Given the description of an element on the screen output the (x, y) to click on. 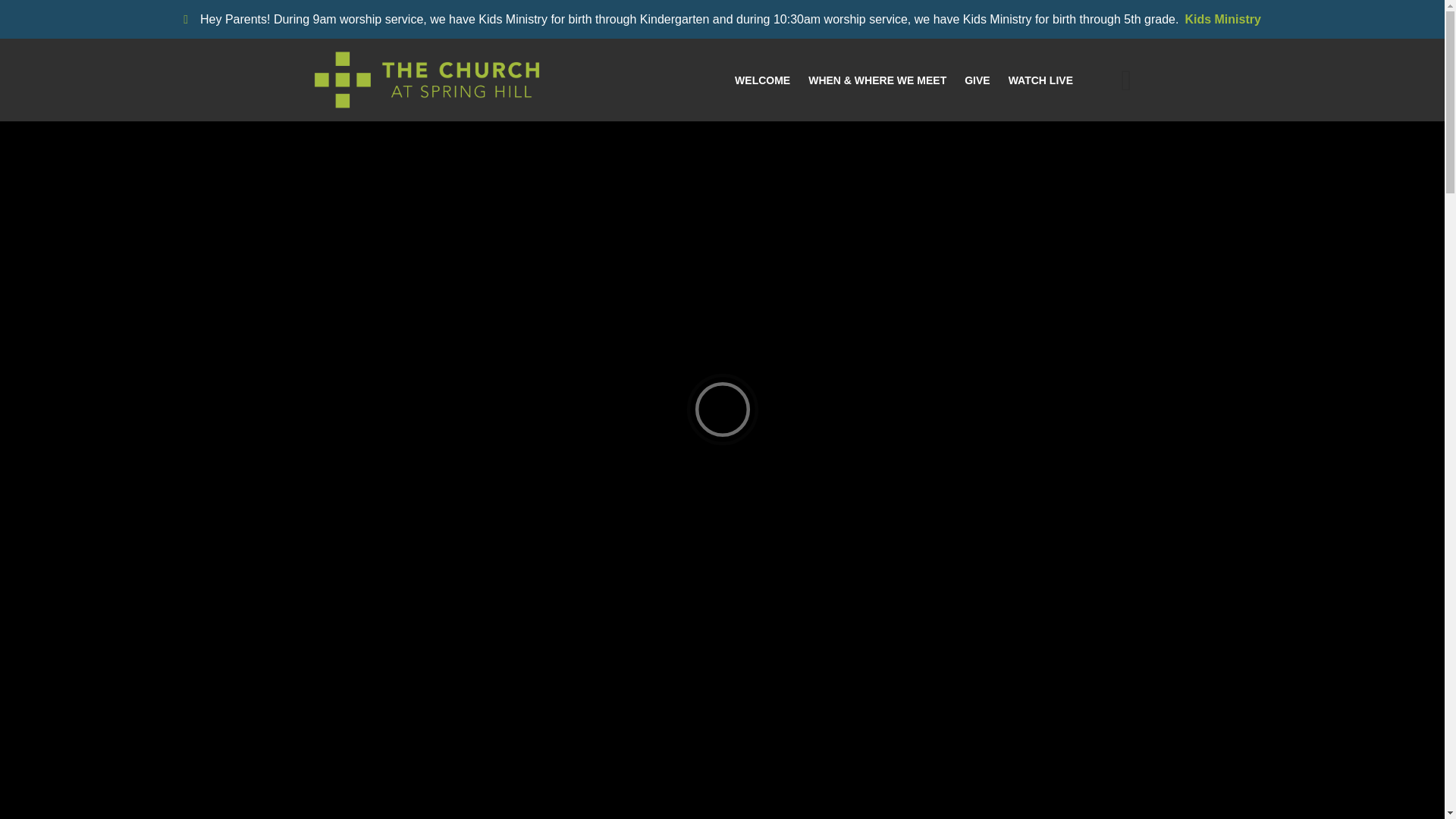
WELCOME (762, 80)
Give (976, 80)
Welcome (762, 80)
Watch Live (1041, 80)
Who We Are (928, 145)
GIVE (976, 80)
Our Leadership (1016, 145)
WATCH LIVE (1041, 80)
